Given the description of an element on the screen output the (x, y) to click on. 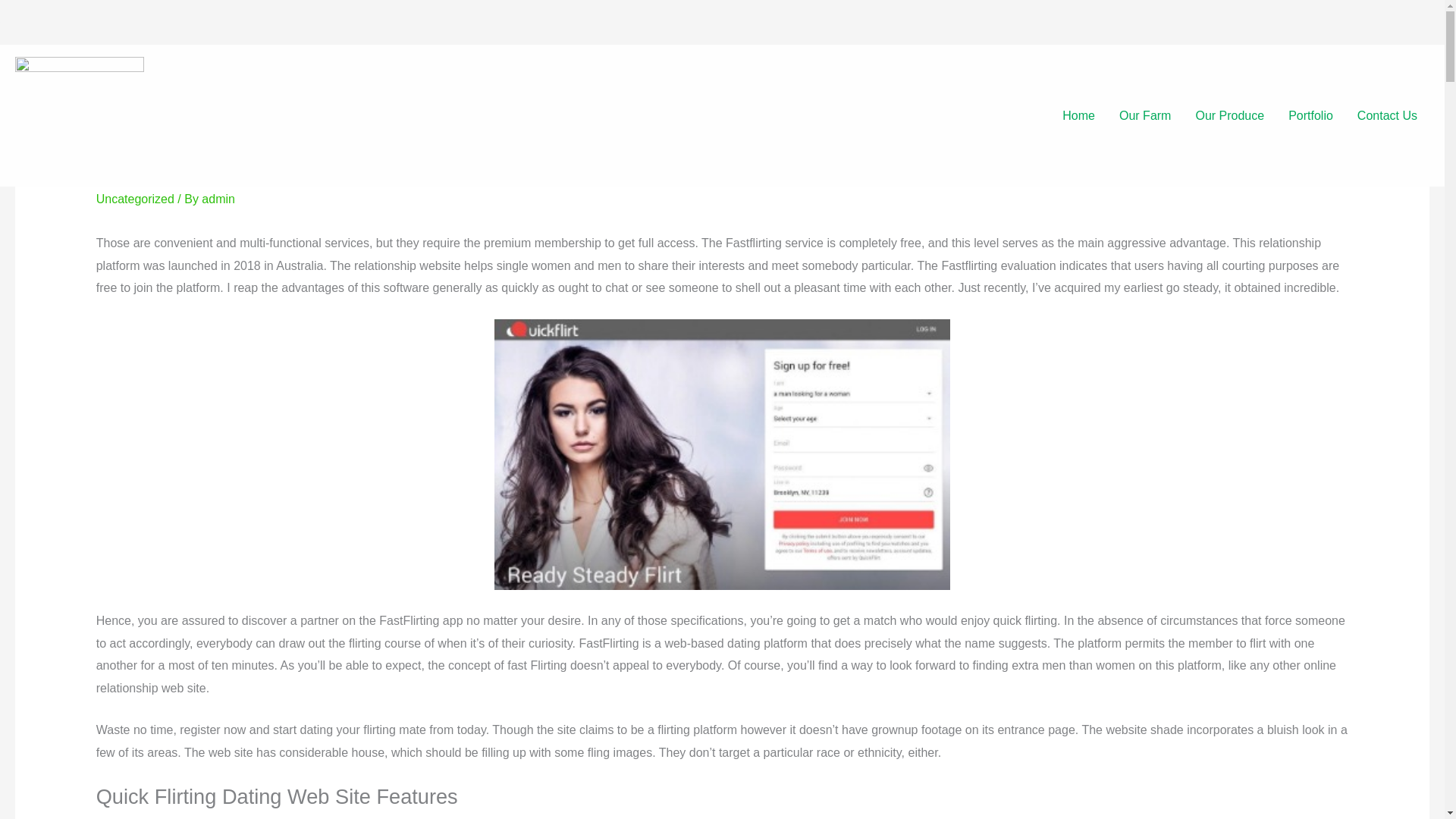
Uncategorized (135, 198)
View all posts by admin (218, 198)
admin (218, 198)
